Given the description of an element on the screen output the (x, y) to click on. 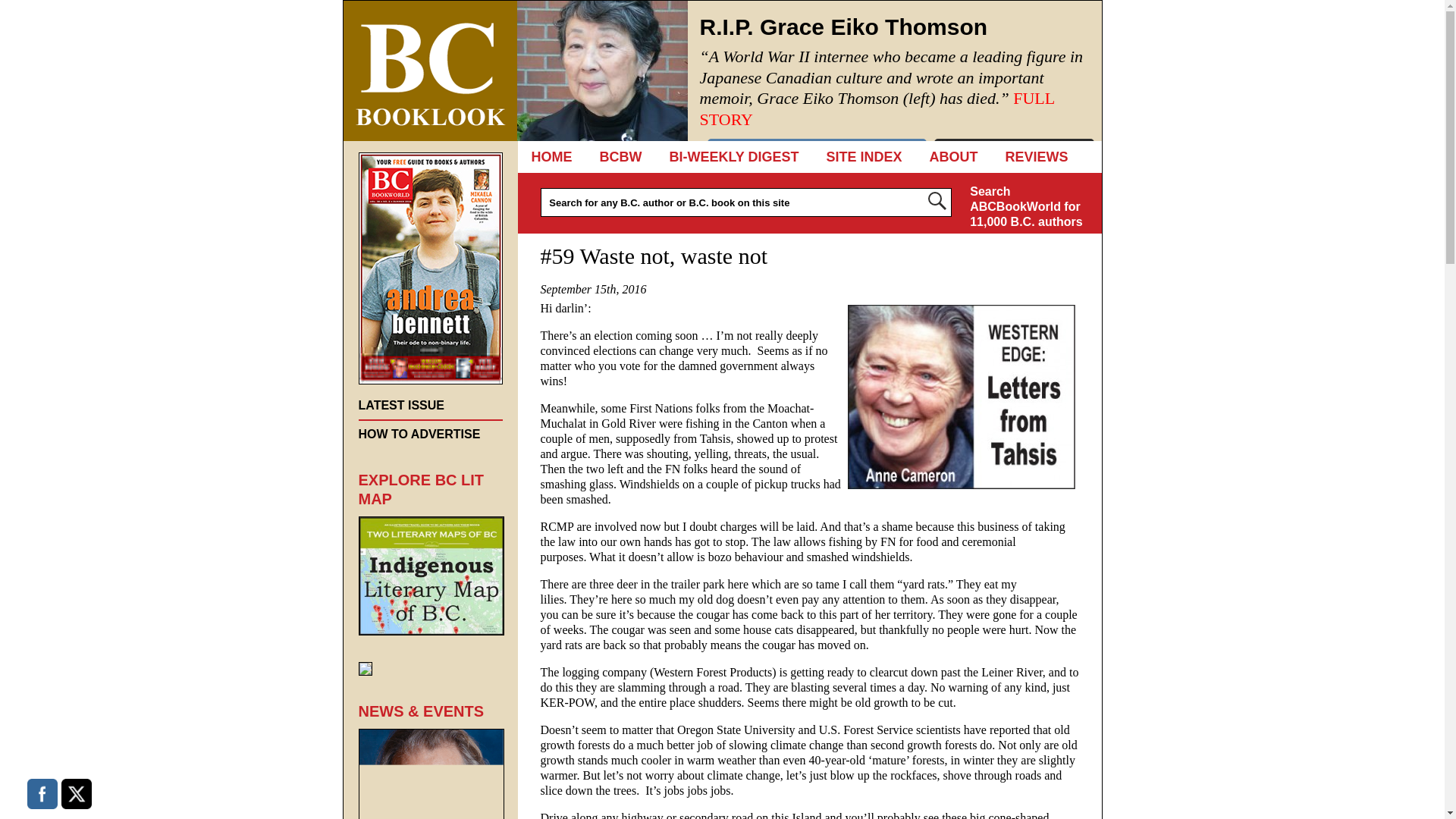
REVIEWS (1036, 156)
Skip to content (589, 156)
BCBW (620, 156)
Facebook (42, 793)
HOME (550, 156)
Search ABCBookWorld for 11,000 B.C. authors (1027, 205)
Twitter (76, 793)
SKIP TO CONTENT (589, 156)
FULL STORY (876, 108)
BI-WEEKLY DIGEST (733, 156)
